Given the description of an element on the screen output the (x, y) to click on. 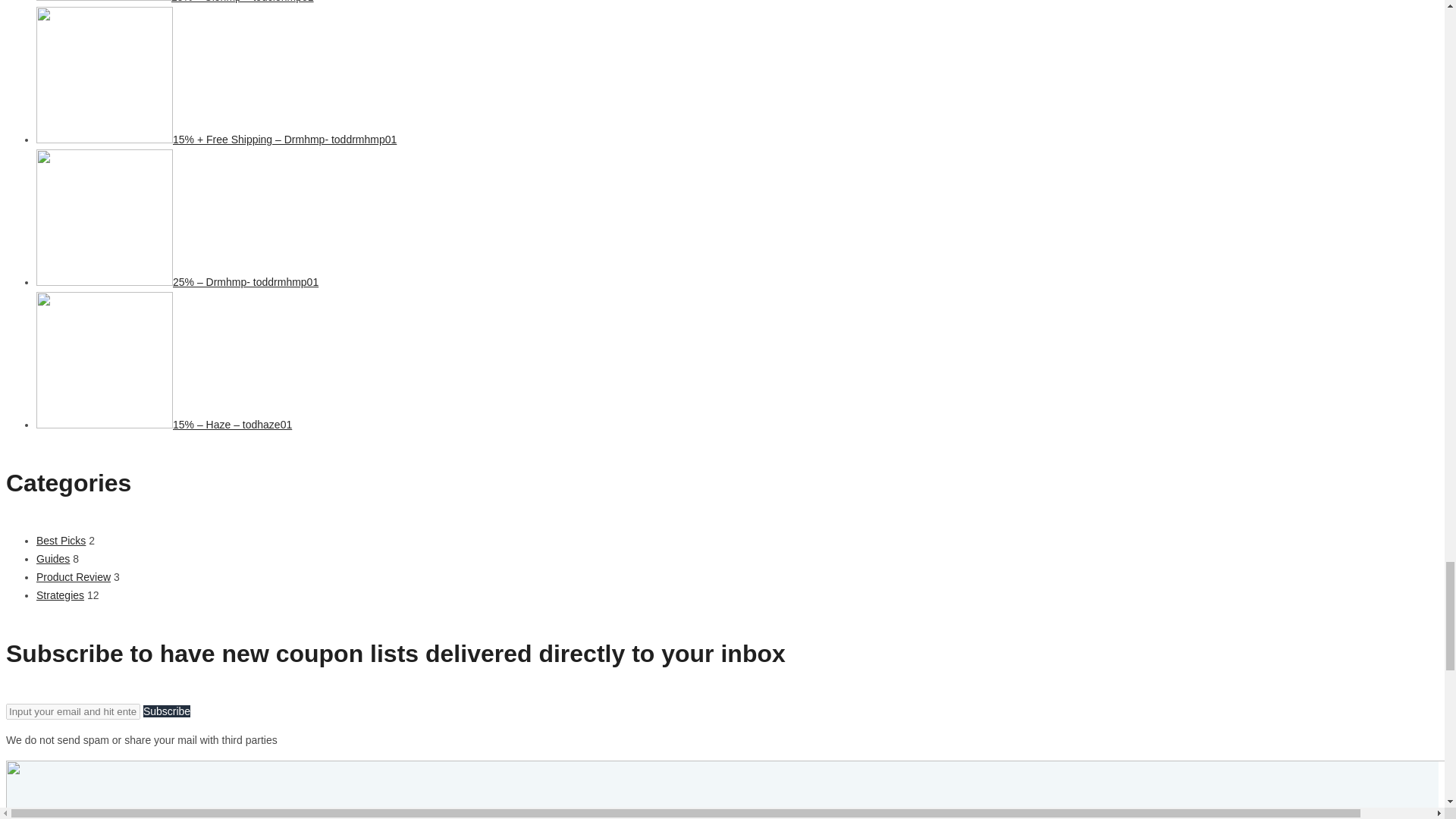
Best Picks (60, 540)
Strategies (60, 594)
Product Review (73, 576)
Guides (52, 558)
Subscribe (166, 711)
